Given the description of an element on the screen output the (x, y) to click on. 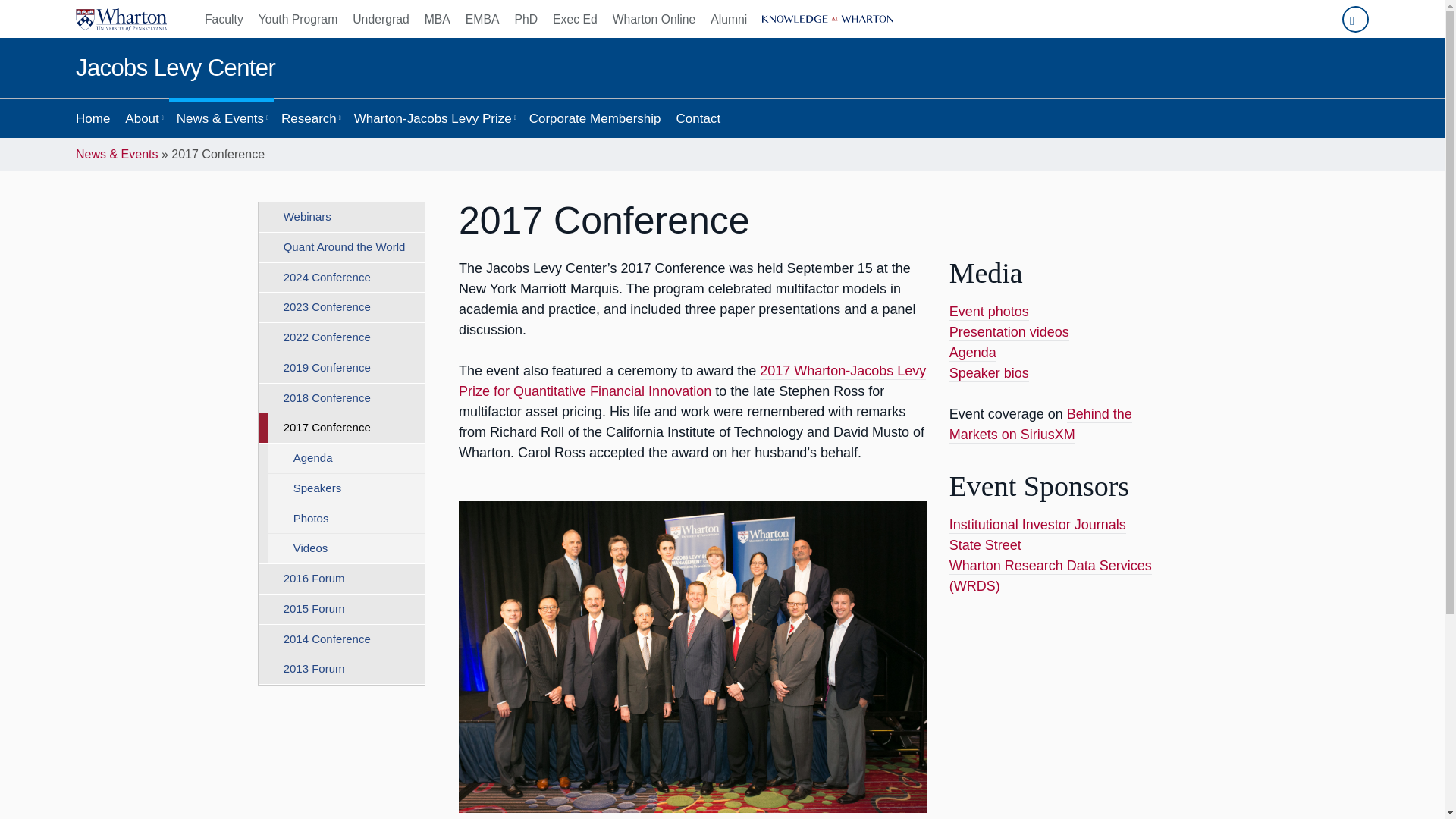
MBA (437, 18)
Jacobs Levy Center (175, 67)
Wharton Online (654, 18)
Home (92, 117)
PhD (525, 18)
EMBA (482, 18)
Exec Ed (574, 18)
Search Wharton (1355, 18)
Undergrad (380, 18)
Youth Program (297, 18)
Faculty (227, 18)
Wharton Home (121, 18)
About (142, 117)
Alumni (728, 18)
Jacobs Levy Center (175, 67)
